Given the description of an element on the screen output the (x, y) to click on. 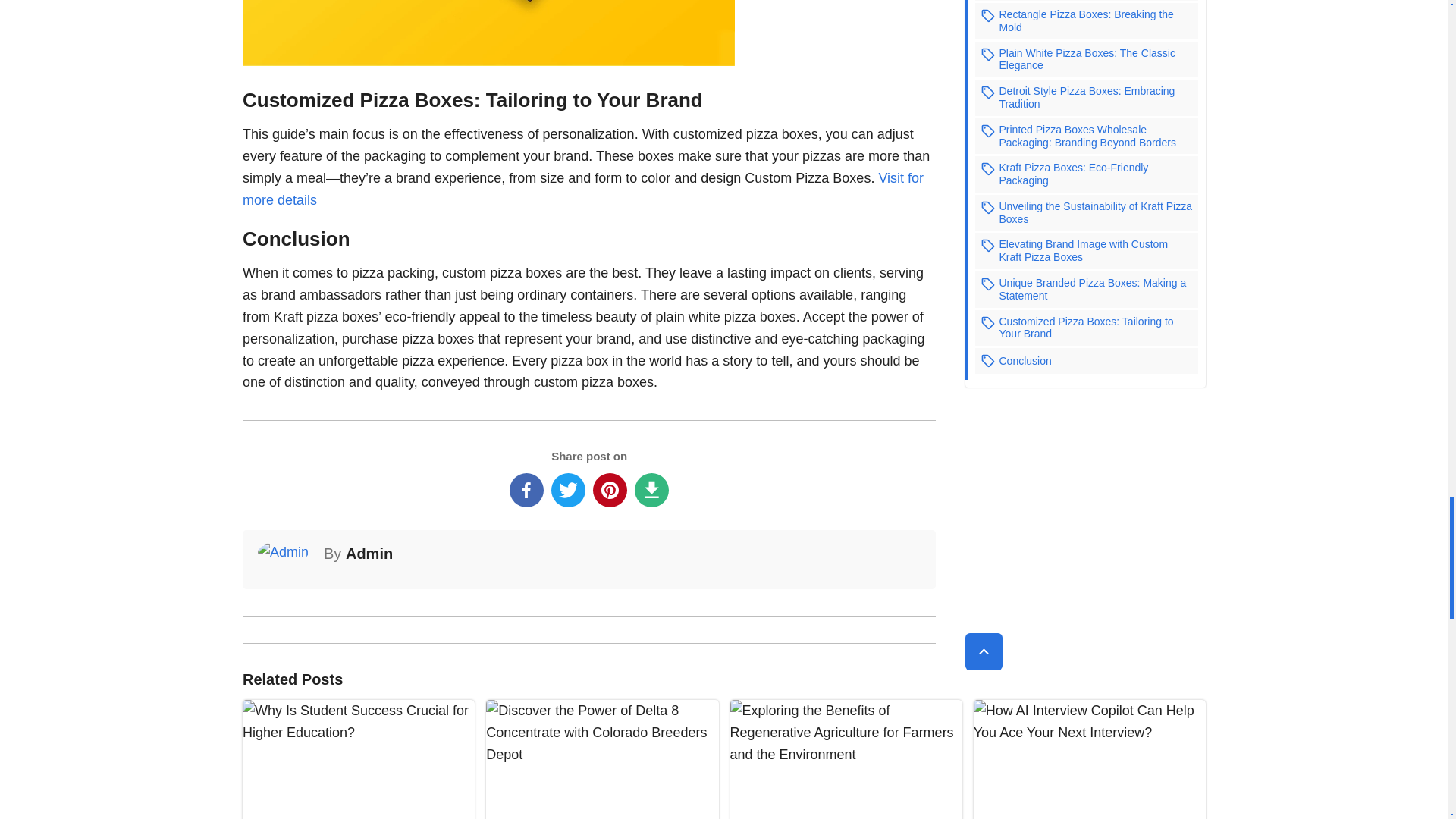
Visit for more details (583, 189)
